Given the description of an element on the screen output the (x, y) to click on. 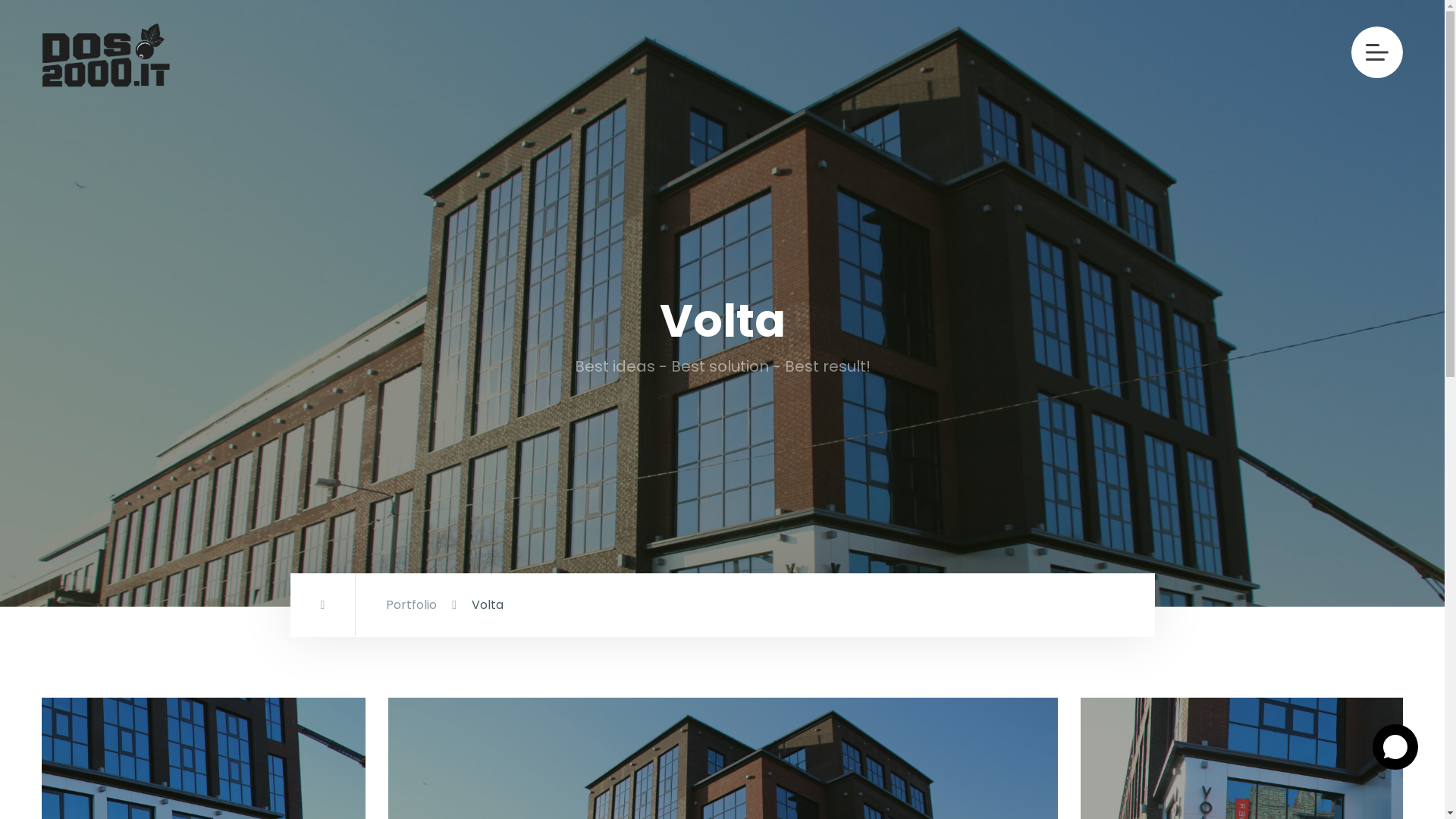
Portfolio Element type: text (410, 604)
